Given the description of an element on the screen output the (x, y) to click on. 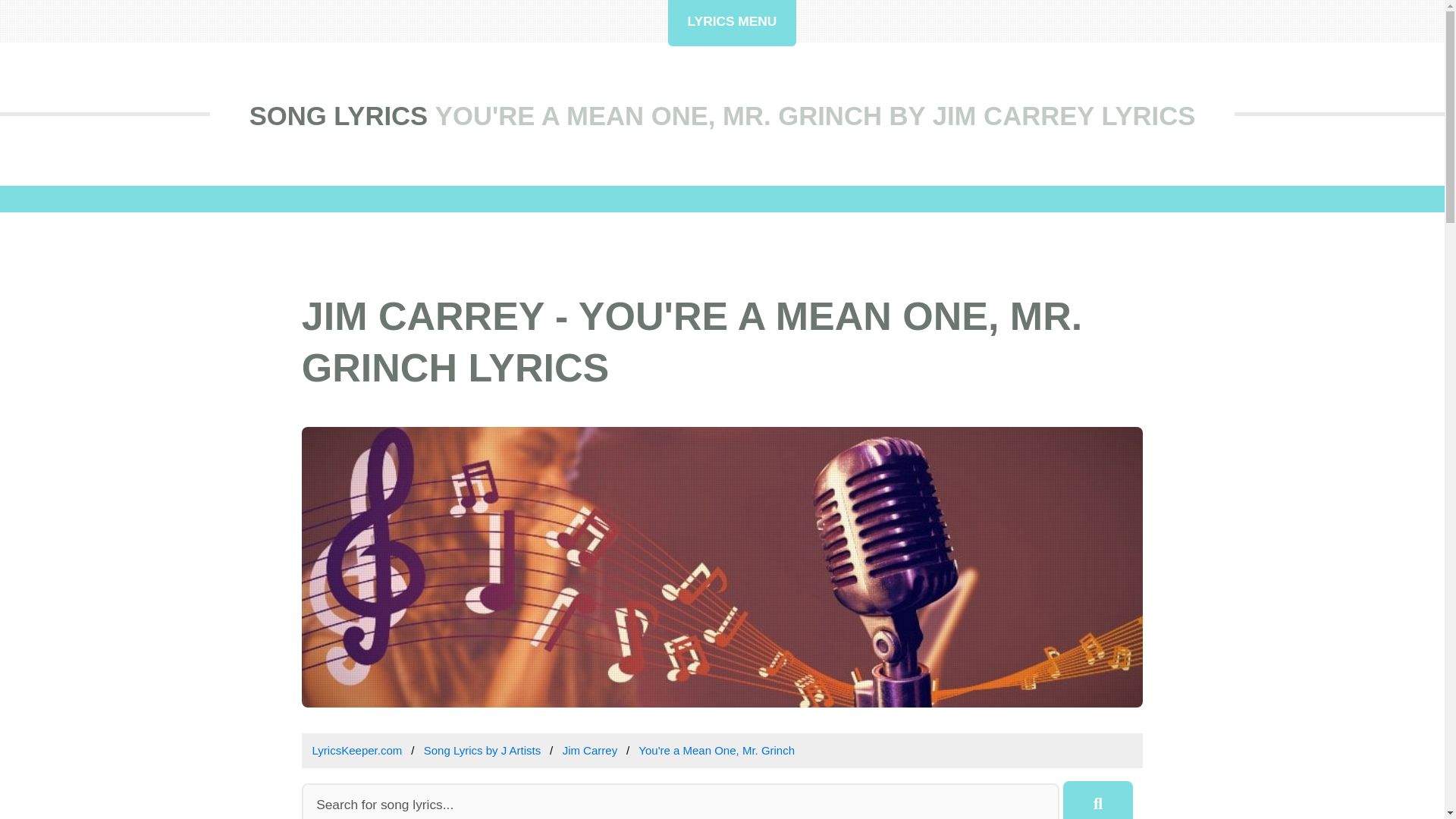
LyricsKeeper.com (358, 749)
LYRICS MENU (732, 22)
You're a Mean One, Mr. Grinch (716, 749)
Song Lyrics by J Artists (482, 749)
SONG LYRICS (338, 115)
Jim Carrey (589, 749)
